Given the description of an element on the screen output the (x, y) to click on. 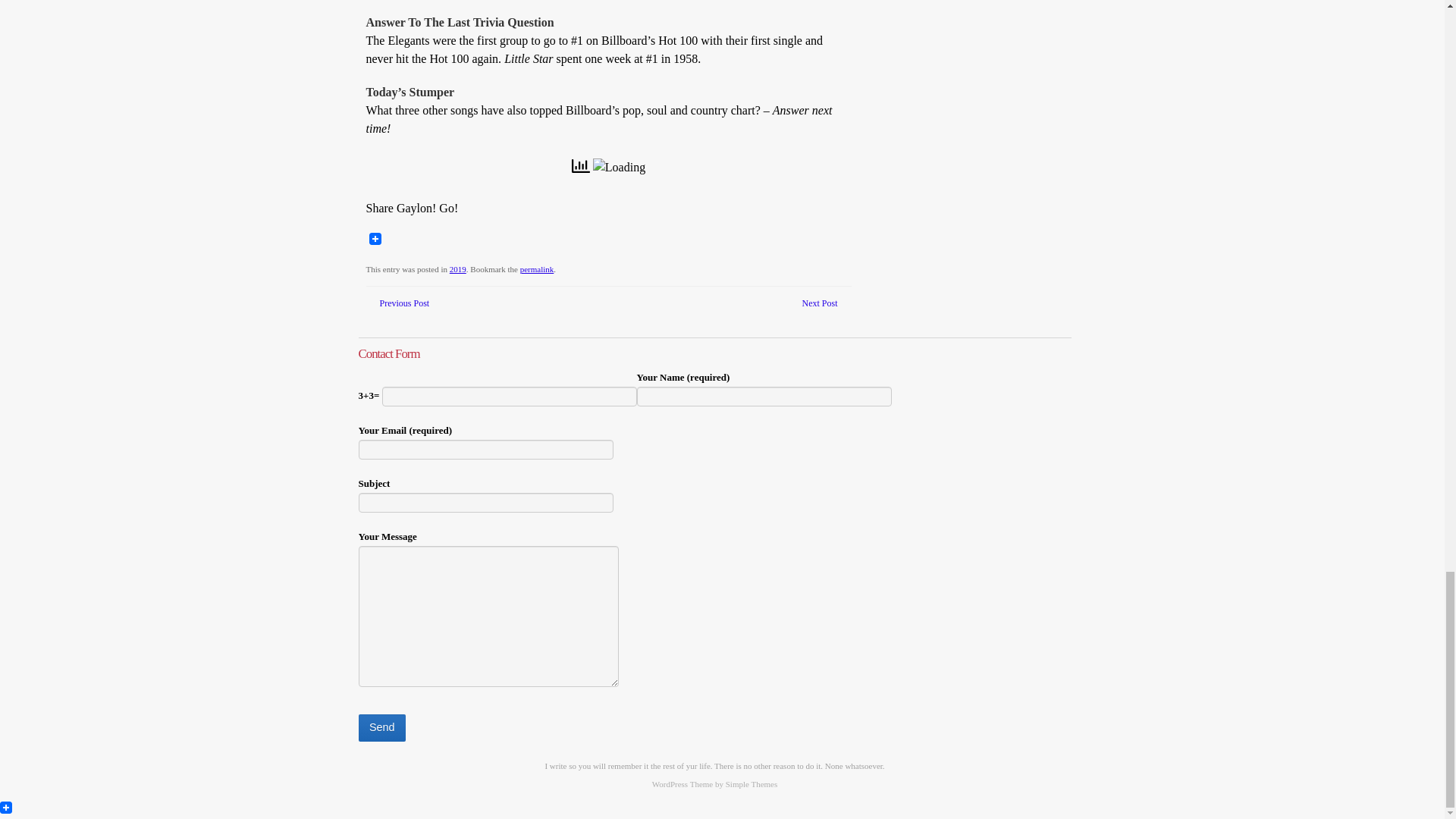
Send (381, 728)
permalink (536, 268)
2019 (457, 268)
Next Post (819, 303)
Simple WordPress Themes (751, 783)
Previous Post (403, 303)
